Given the description of an element on the screen output the (x, y) to click on. 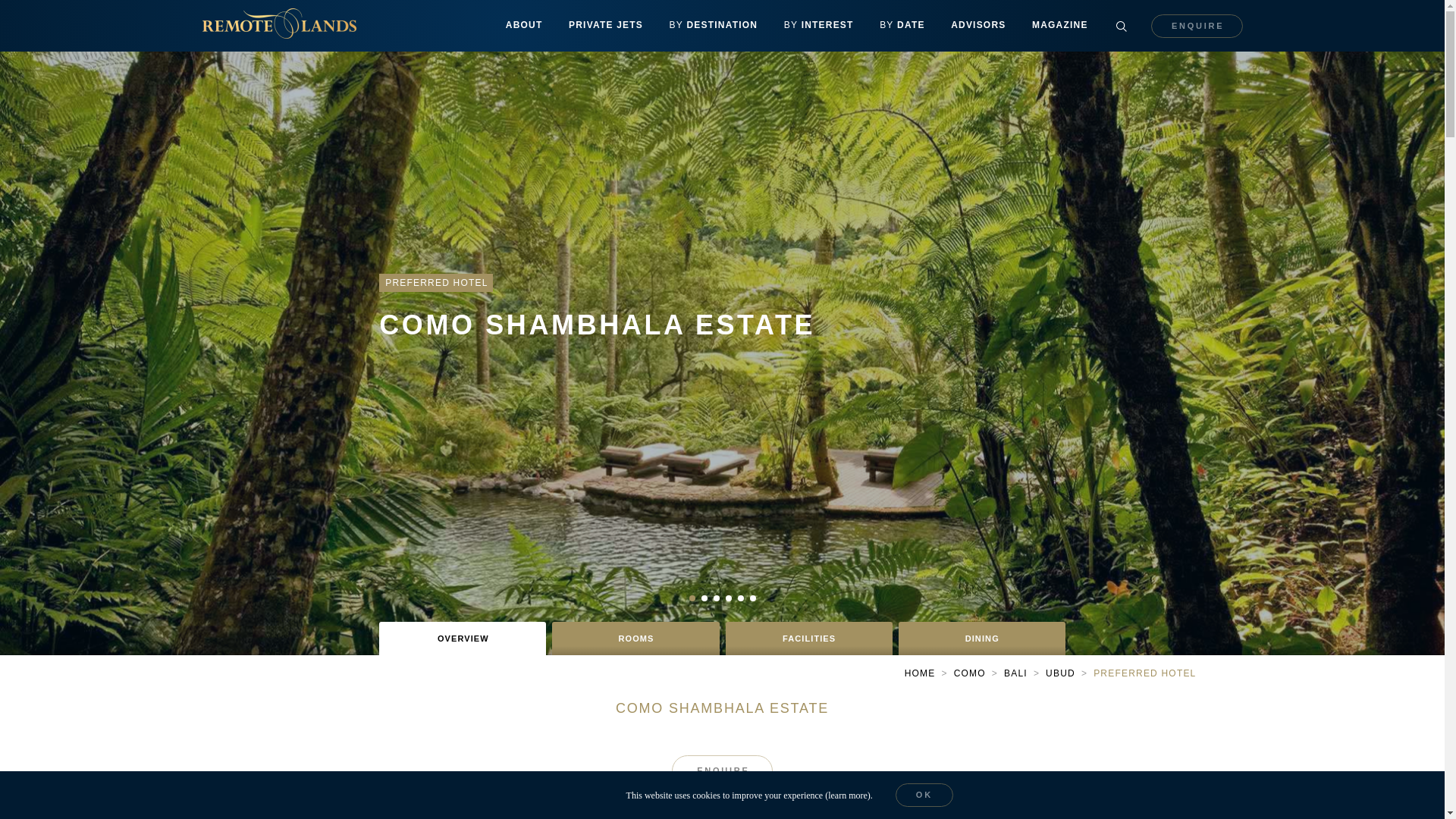
PRIVATE JETS (606, 25)
ABOUT (524, 25)
BY DESTINATION (713, 25)
ENQUIRE (1197, 24)
